Given the description of an element on the screen output the (x, y) to click on. 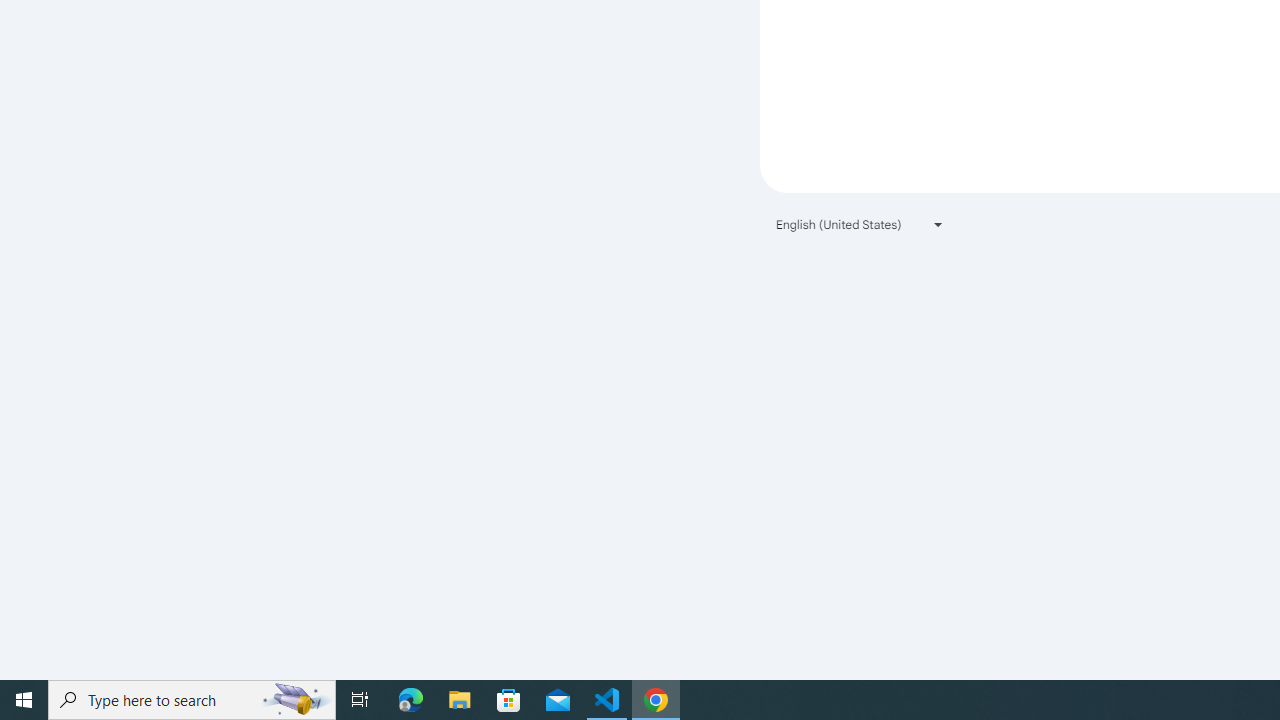
English (United States) (860, 224)
